Given the description of an element on the screen output the (x, y) to click on. 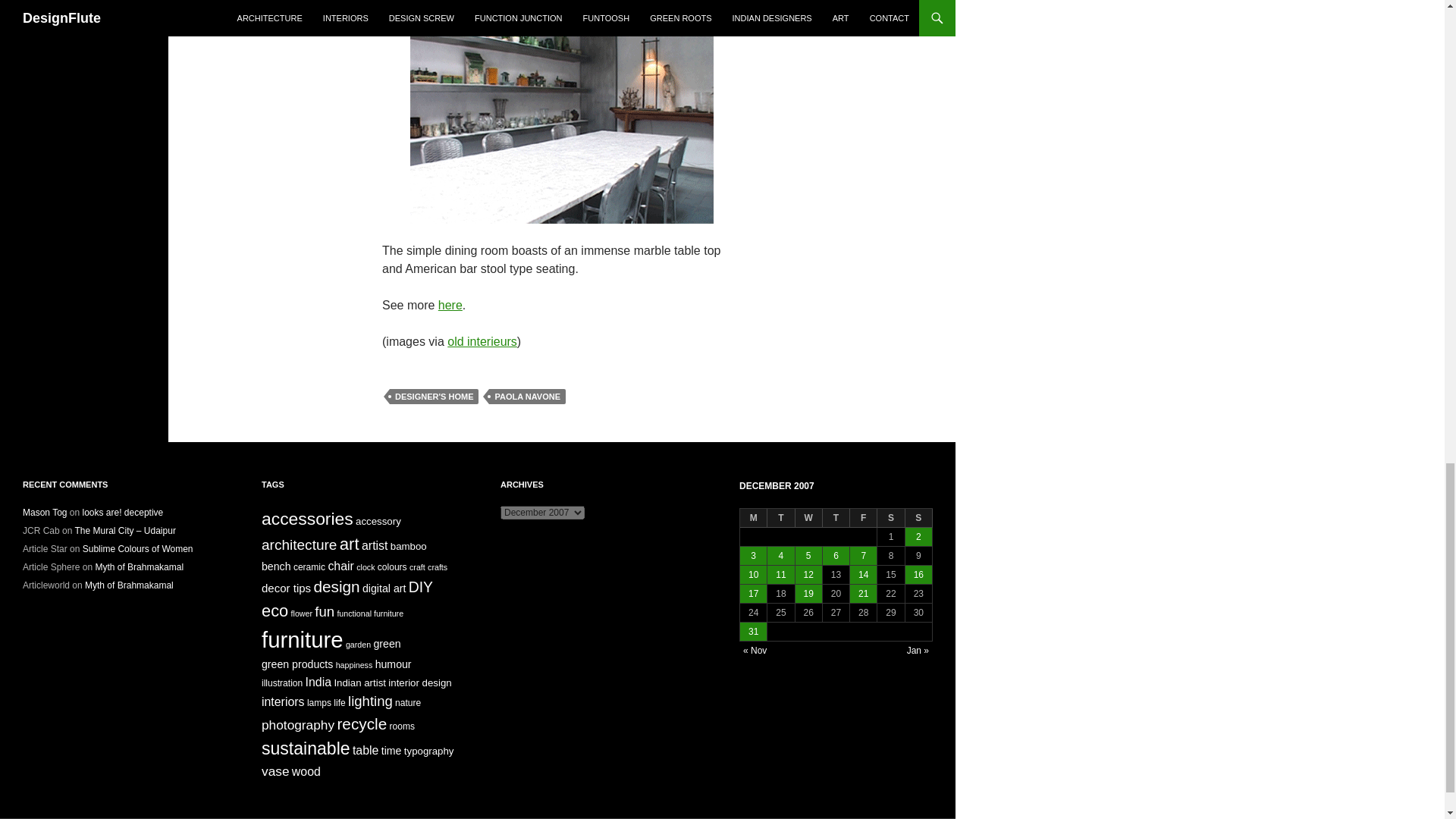
Monday (753, 517)
Mason Tog (44, 511)
accessories (307, 518)
here (450, 305)
art (349, 543)
Friday (863, 517)
DESIGNER'S HOME (434, 396)
Thursday (836, 517)
Sunday (919, 517)
Tuesday (780, 517)
